Given the description of an element on the screen output the (x, y) to click on. 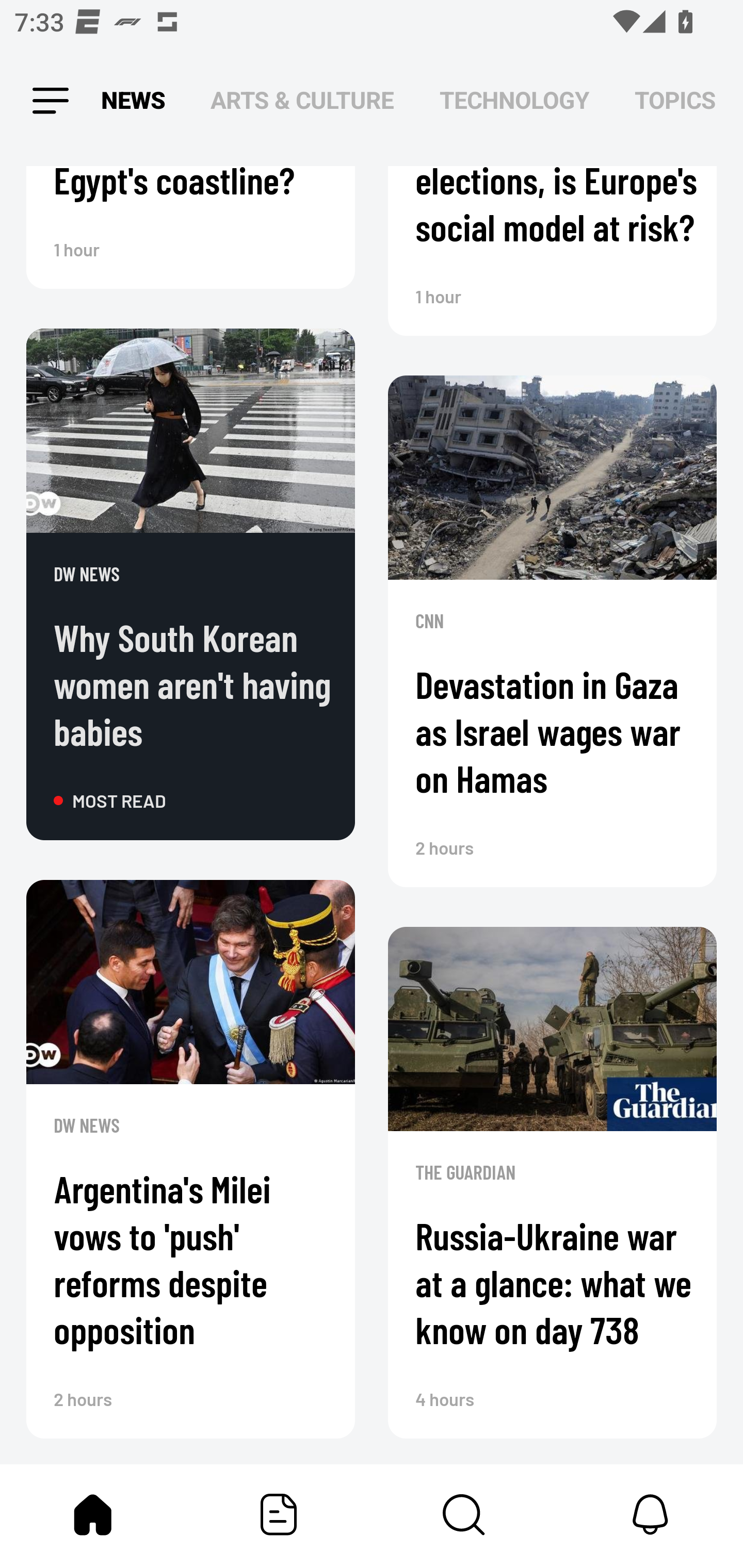
Leading Icon (48, 101)
ARTS & CULTURE (302, 100)
TECHNOLOGY (514, 100)
TOPICS (675, 100)
Featured (278, 1514)
Content Store (464, 1514)
Notifications (650, 1514)
